Given the description of an element on the screen output the (x, y) to click on. 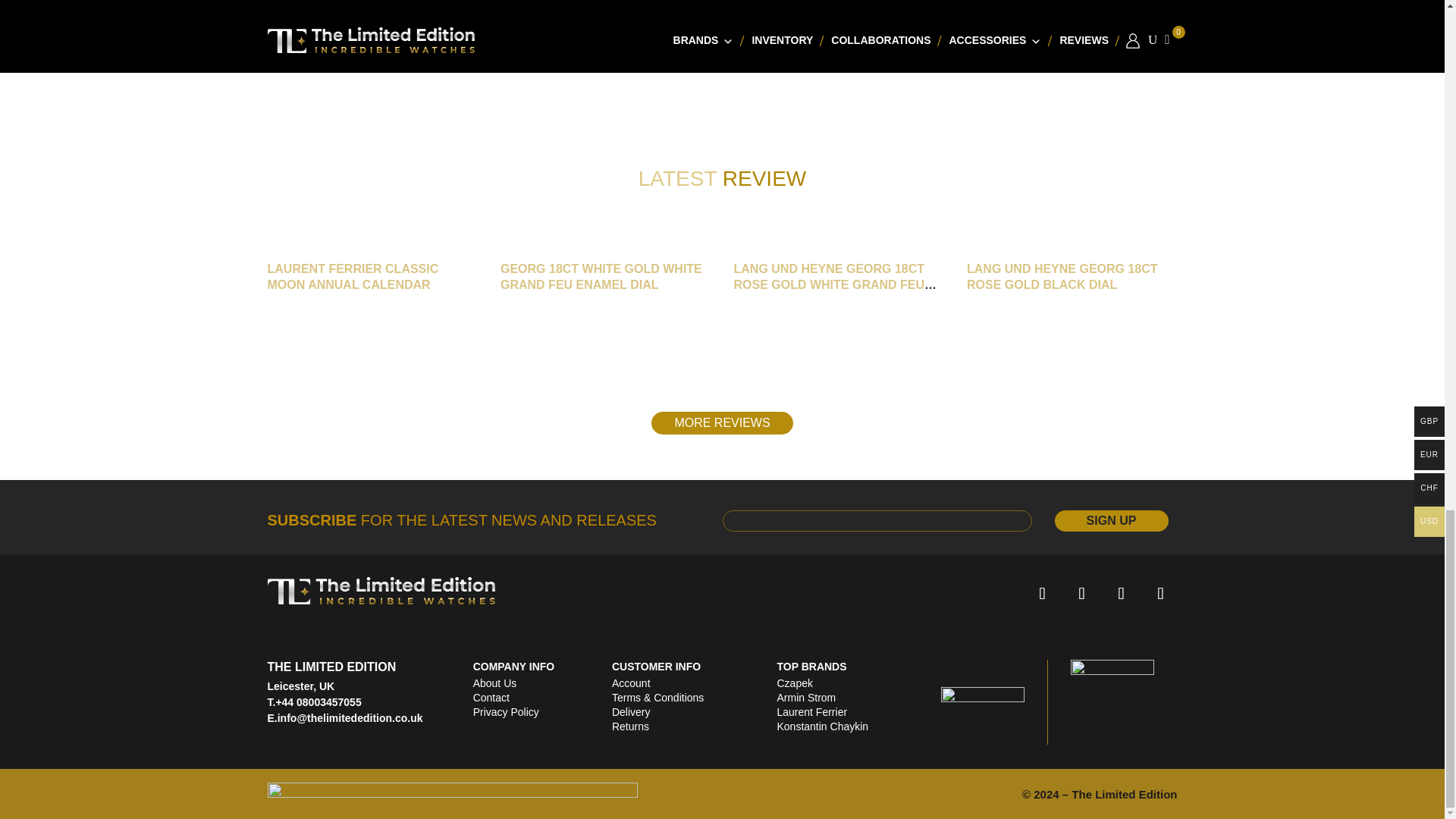
site-main-logo (380, 589)
footer-col-logo-2-1 (982, 702)
Follow on Instagram (1120, 592)
Follow on Spotify (1080, 592)
Follow on Youtube (1159, 592)
Follow on Facebook (1041, 592)
